Given the description of an element on the screen output the (x, y) to click on. 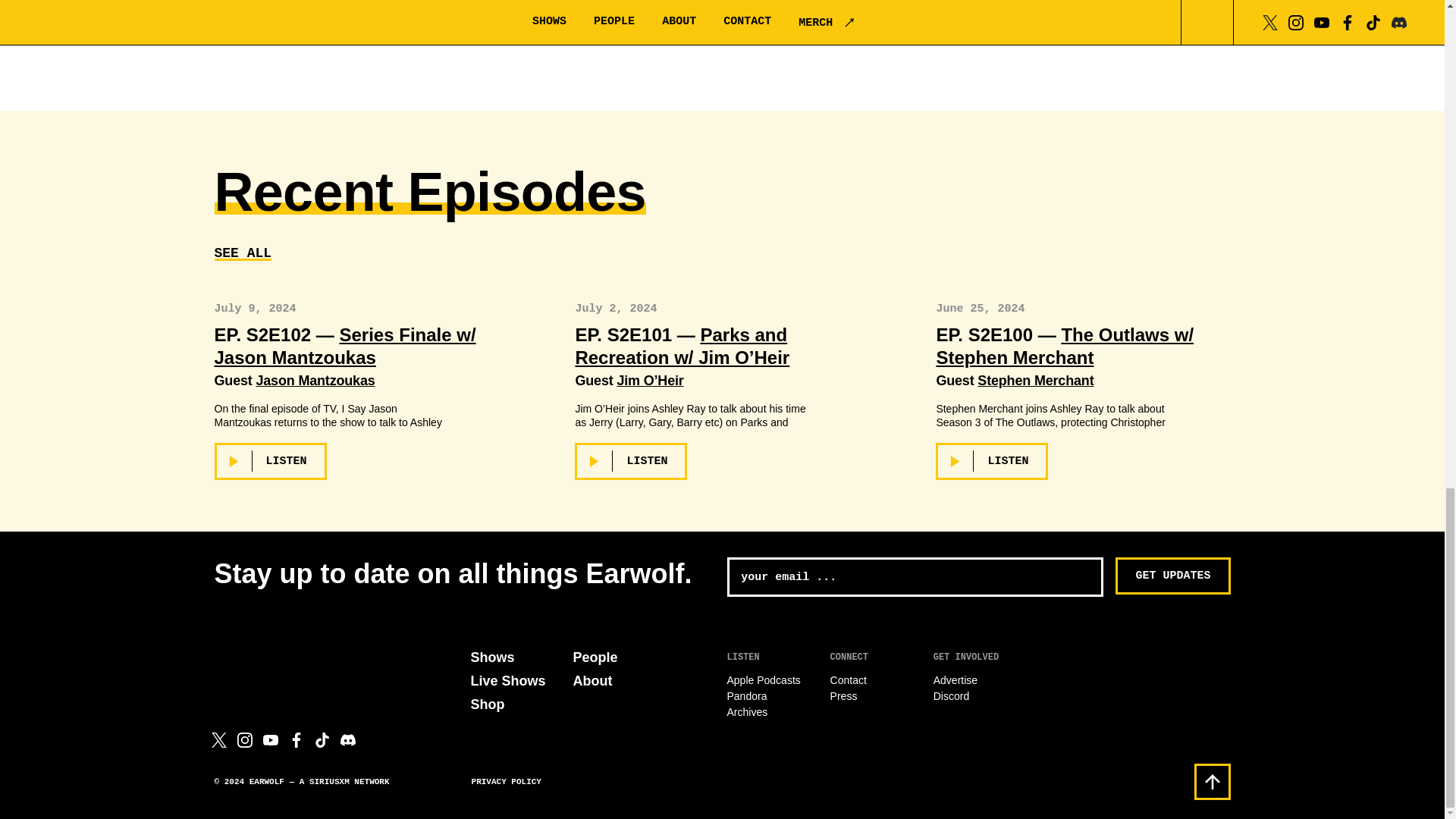
Open Artwork Gallery (724, 24)
Get Updates (1172, 575)
